Given the description of an element on the screen output the (x, y) to click on. 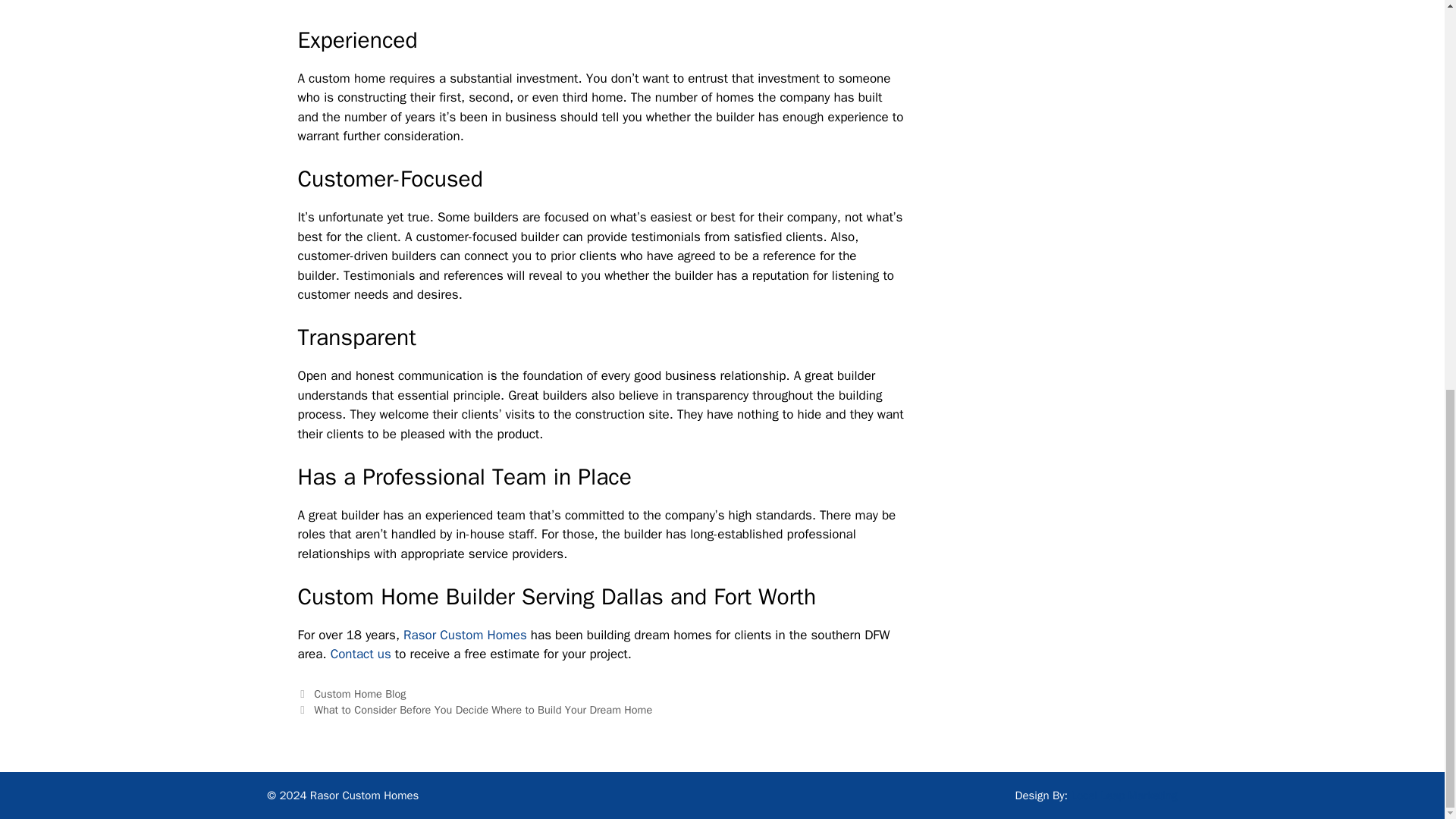
Contact us (360, 653)
Next (474, 709)
Rasor Custom Homes (465, 634)
Custom Home Blog (360, 694)
Local Leap Marketing (1124, 795)
